Given the description of an element on the screen output the (x, y) to click on. 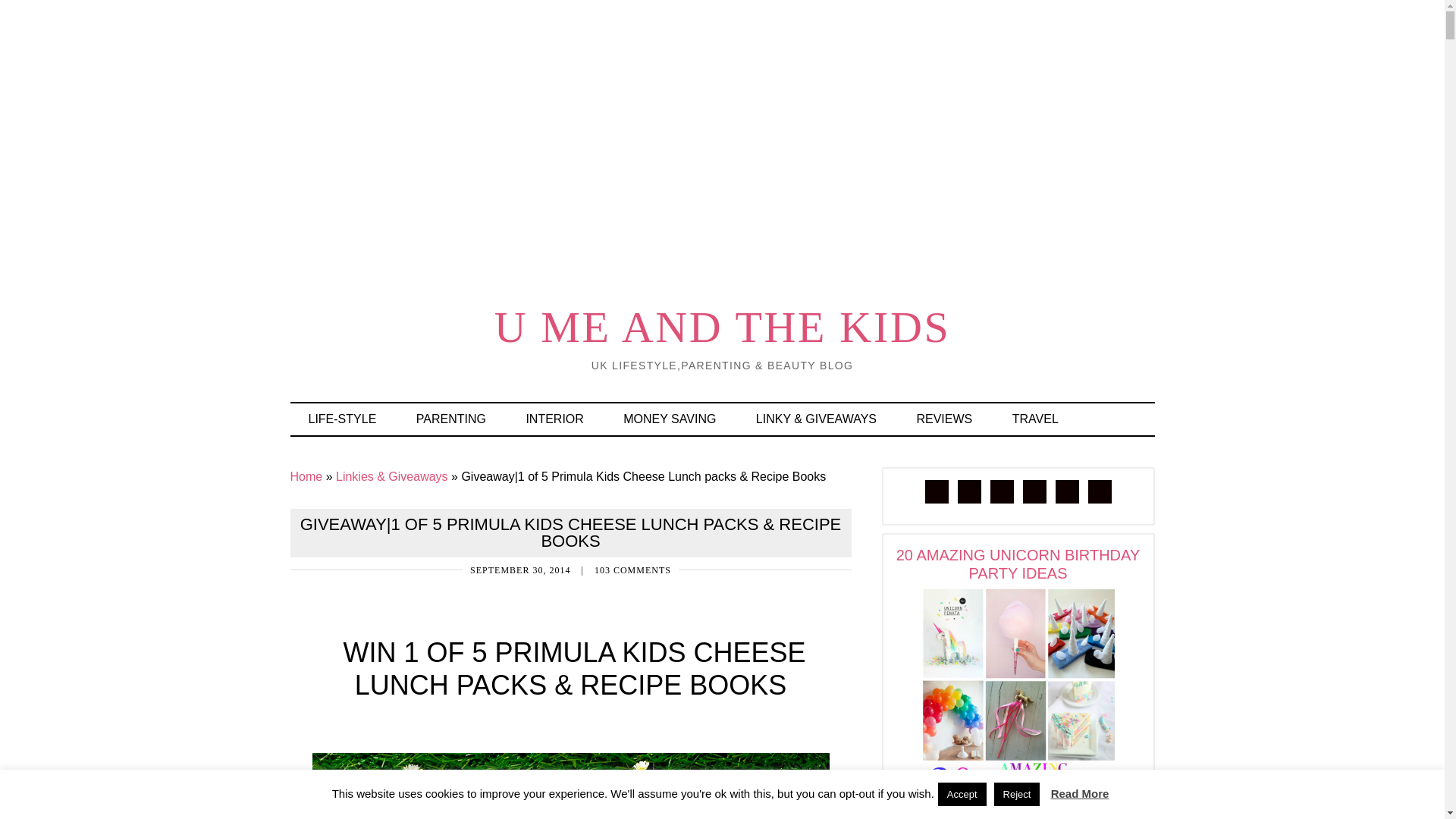
MONEY SAVING (669, 418)
LIFE-STYLE (341, 418)
REVIEWS (944, 418)
Home (305, 476)
TRAVEL (1035, 418)
103 COMMENTS (632, 570)
Education (450, 418)
PARENTING (450, 418)
INTERIOR (553, 418)
